Given the description of an element on the screen output the (x, y) to click on. 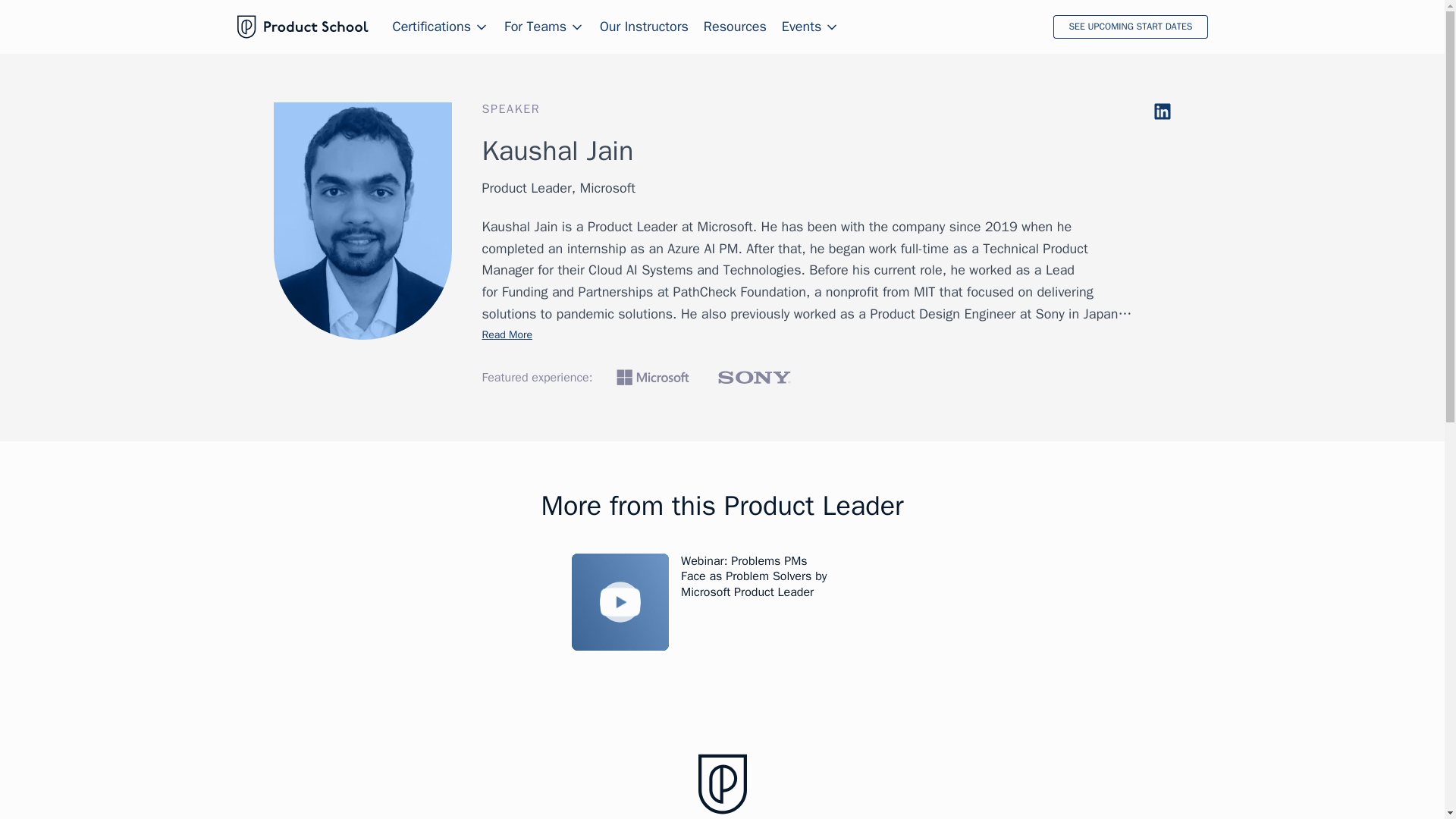
Read More (506, 334)
 See Upcoming Start Dates (1129, 26)
For Teams (544, 27)
SEE UPCOMING START DATES (1129, 26)
Read More (506, 334)
Our Instructors (643, 27)
Certifications (441, 27)
Resources (735, 27)
Events (810, 27)
